Given the description of an element on the screen output the (x, y) to click on. 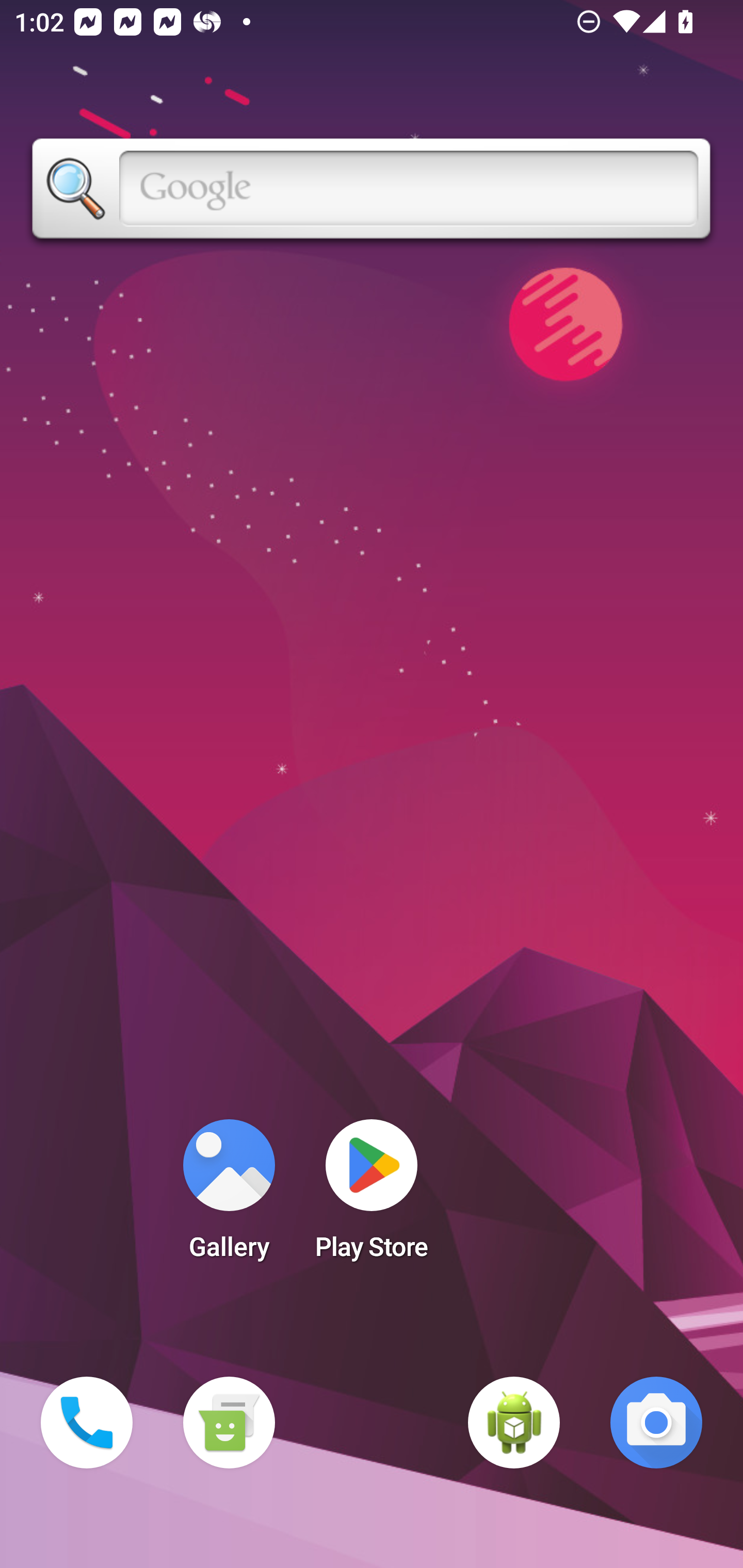
Gallery (228, 1195)
Play Store (371, 1195)
Phone (86, 1422)
Messaging (228, 1422)
WebView Browser Tester (513, 1422)
Camera (656, 1422)
